Given the description of an element on the screen output the (x, y) to click on. 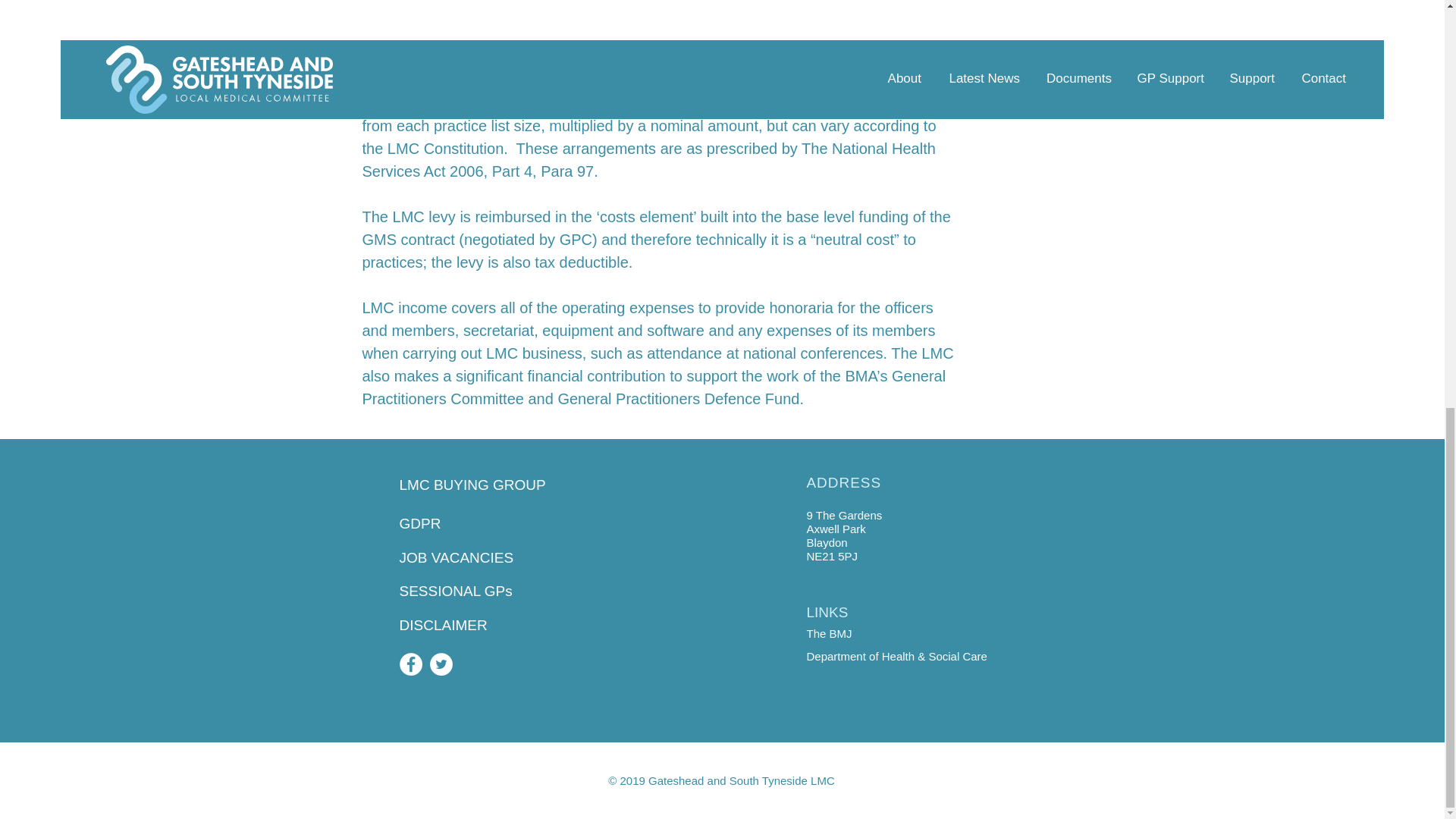
LMC BUYING GROUP (487, 485)
GDPR (487, 524)
SESSIONAL GPs (487, 591)
DISCLAIMER (487, 626)
JOB VACANCIES (487, 558)
The BMJ (828, 633)
www.bma.org.uk (418, 12)
